Given the description of an element on the screen output the (x, y) to click on. 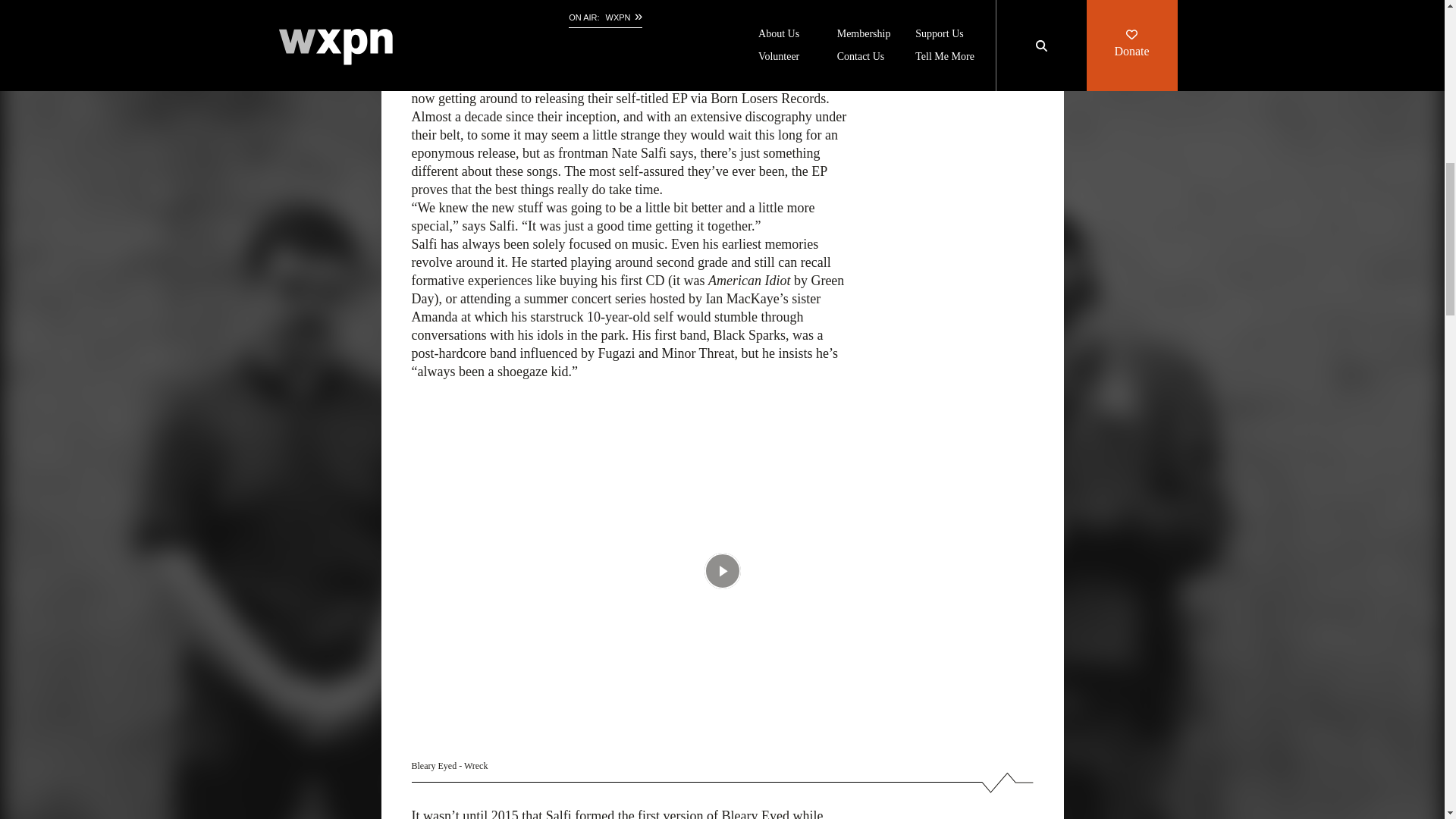
Samantha Sullivan (471, 0)
